Given the description of an element on the screen output the (x, y) to click on. 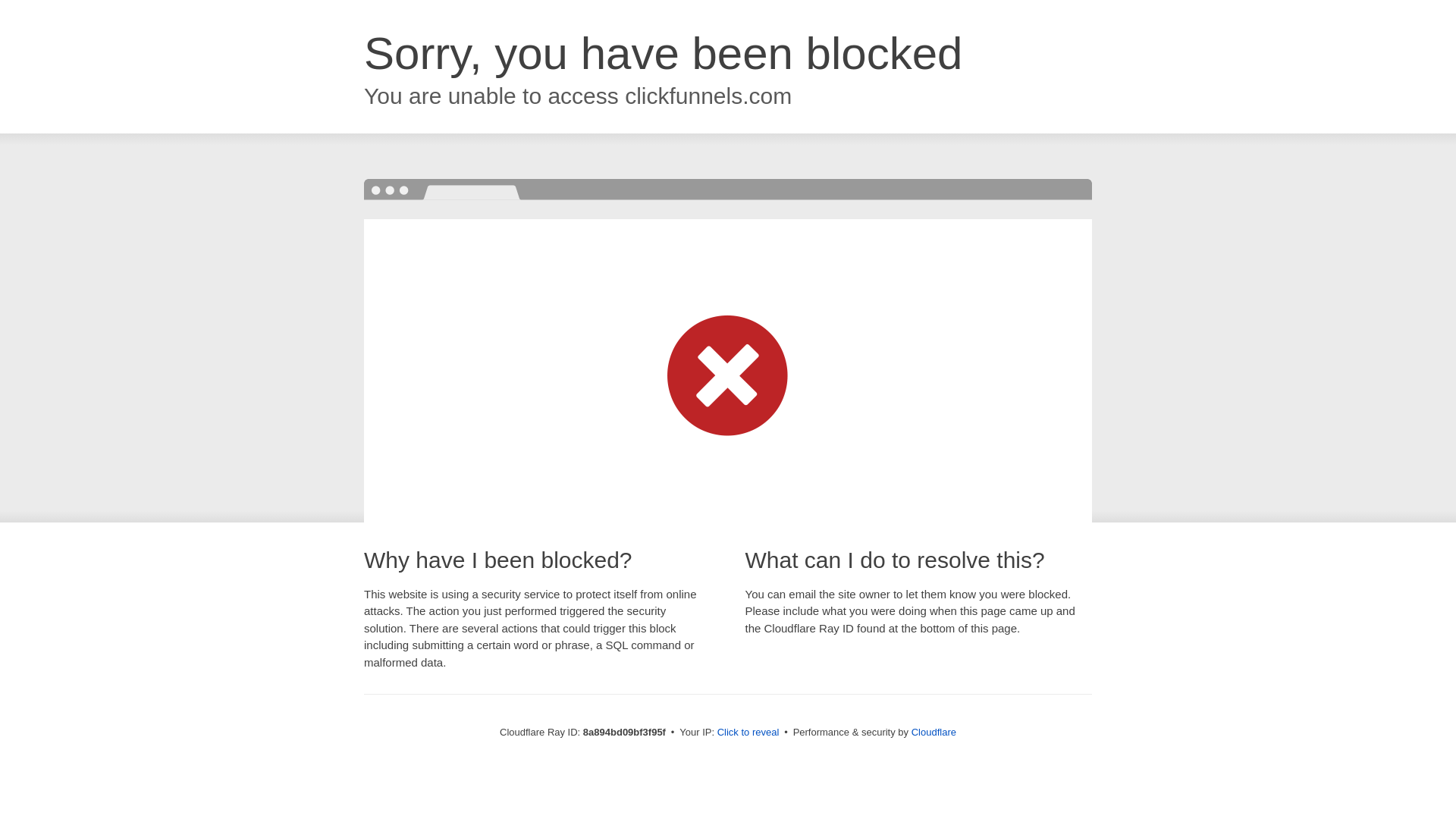
Cloudflare (933, 731)
Click to reveal (747, 732)
